Given the description of an element on the screen output the (x, y) to click on. 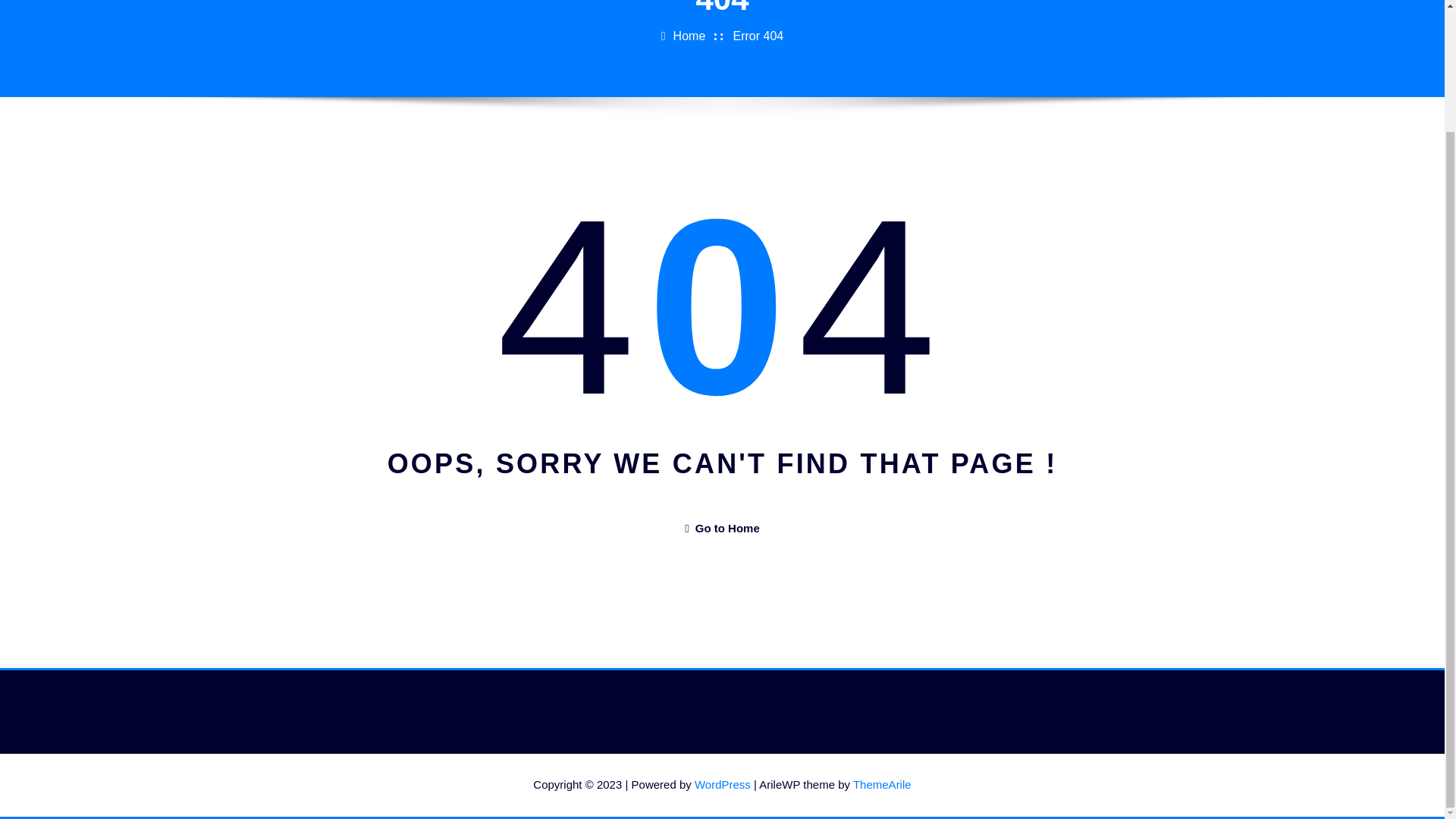
WordPress (722, 784)
ThemeArile (882, 784)
Home (689, 35)
Go to Home (721, 528)
Error 404 (758, 35)
